Given the description of an element on the screen output the (x, y) to click on. 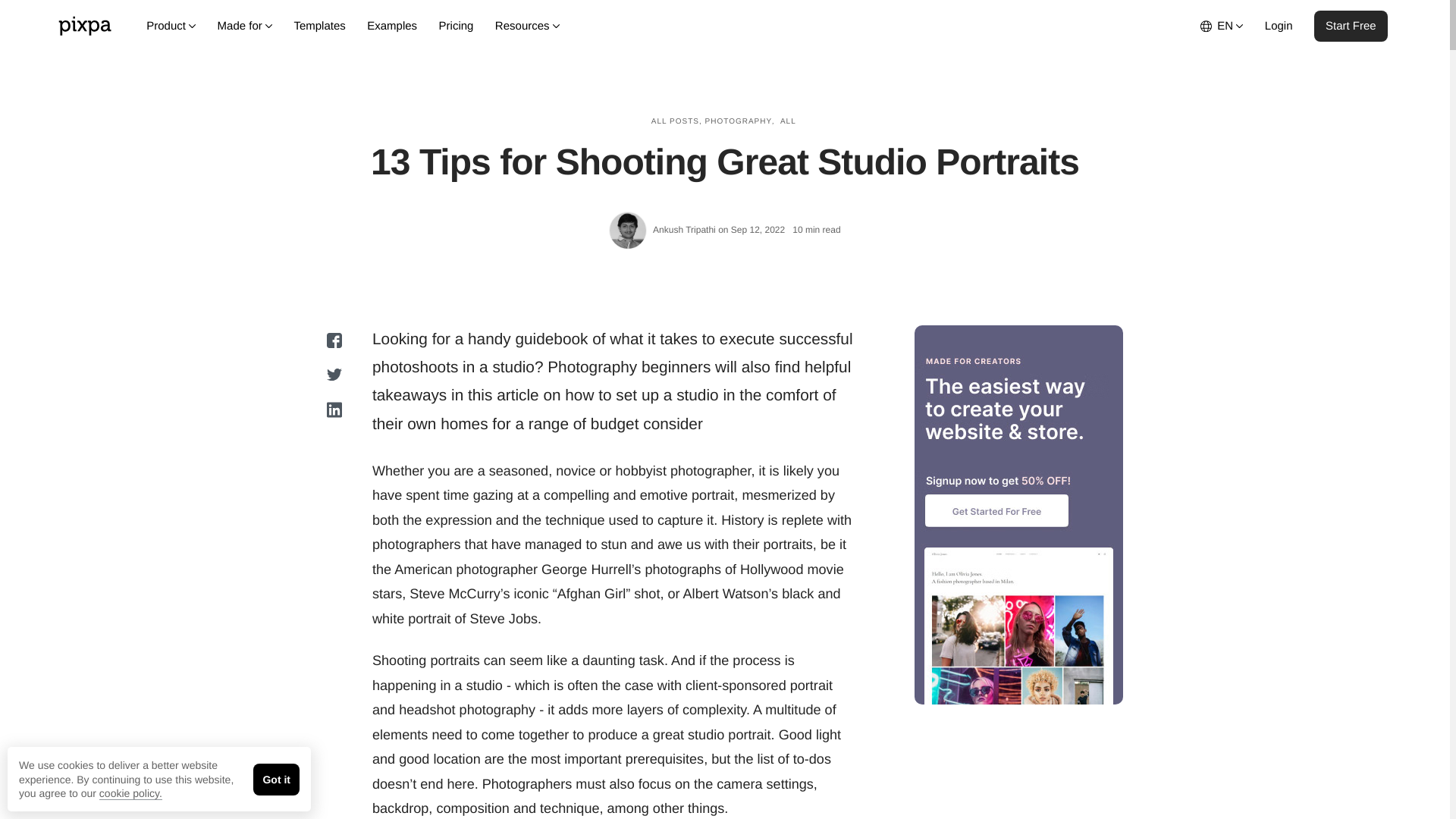
Pricing (456, 26)
Examples (392, 26)
Resources (527, 26)
Templates (318, 26)
Made for (244, 26)
Product (170, 26)
